Given the description of an element on the screen output the (x, y) to click on. 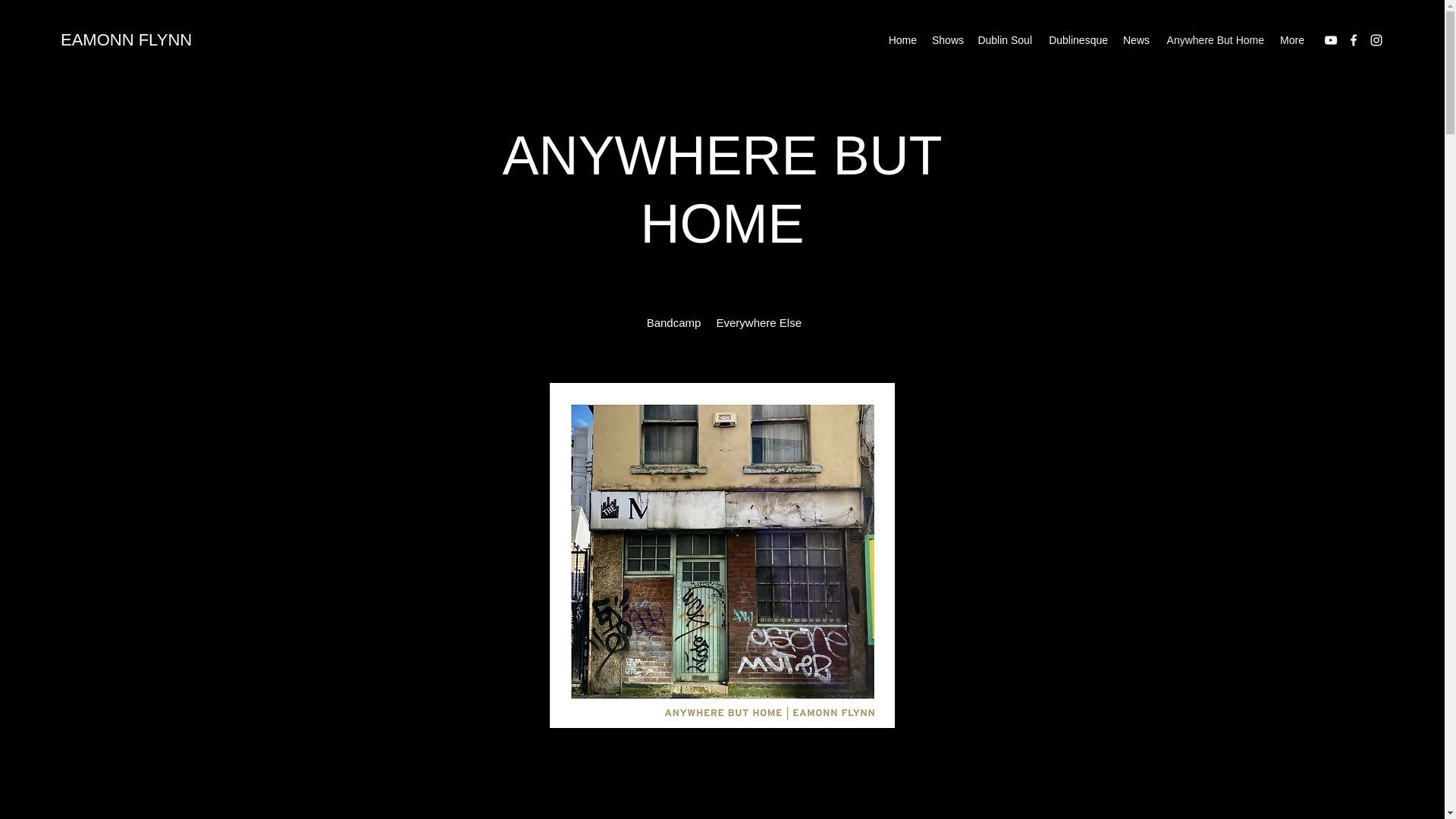
Dublin Soul (1004, 39)
Bandcamp (673, 323)
News (1136, 39)
Anywhere But Home (1214, 39)
EAMONN FLYNN (126, 39)
Dublinesque (1077, 39)
Shows (946, 39)
Everywhere Else (759, 323)
Home (902, 39)
